Given the description of an element on the screen output the (x, y) to click on. 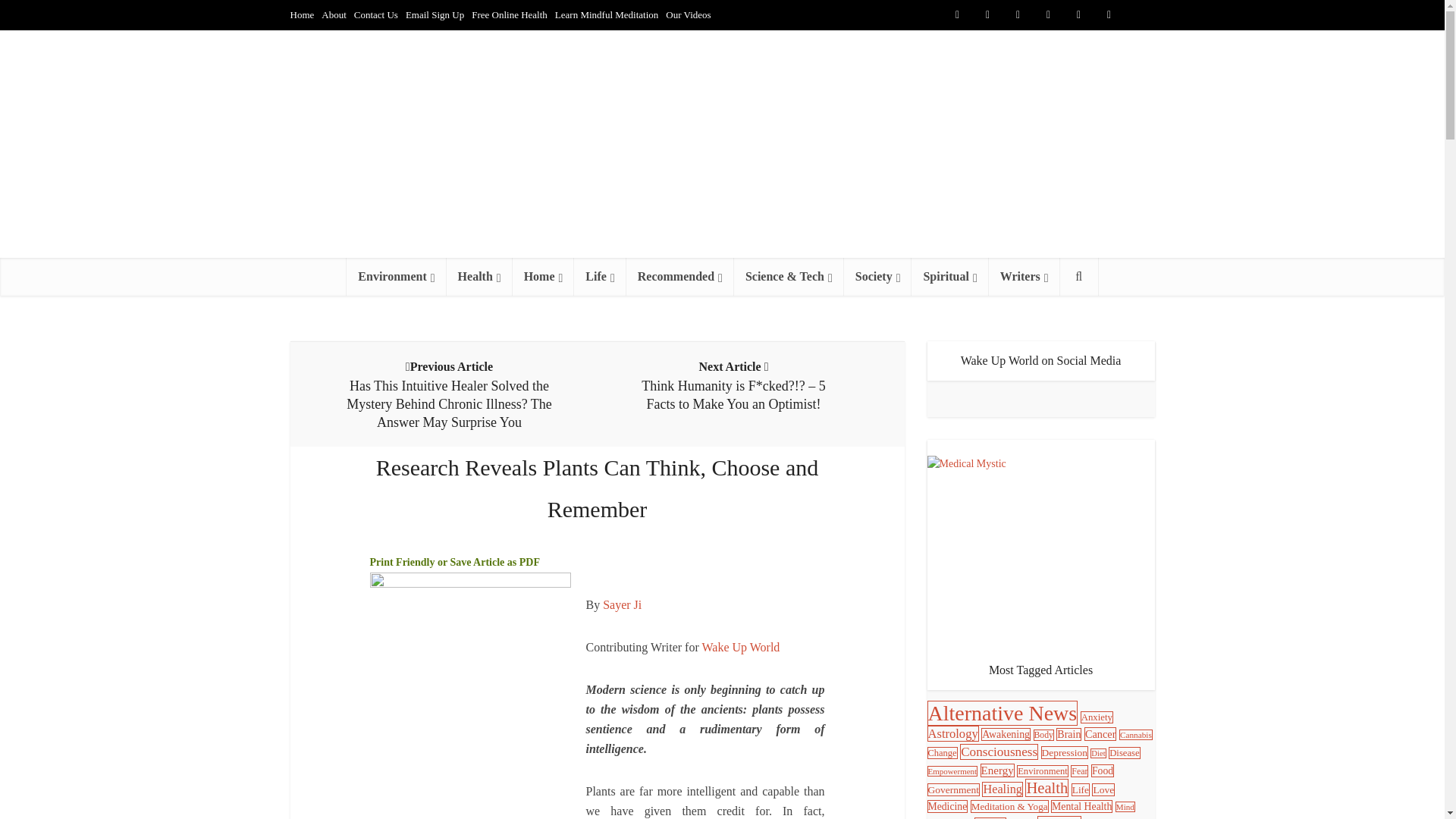
More from Sayer Ji on Wake Up World (622, 604)
Telegram (1139, 15)
Contact Us (375, 14)
Health (479, 276)
Learn Mindful Meditation (606, 14)
Free Online Health (509, 14)
About (333, 14)
Environment (395, 276)
Our Videos (687, 14)
Home (301, 14)
Articles recommended by WuW (679, 276)
Email Sign Up (435, 14)
